Given the description of an element on the screen output the (x, y) to click on. 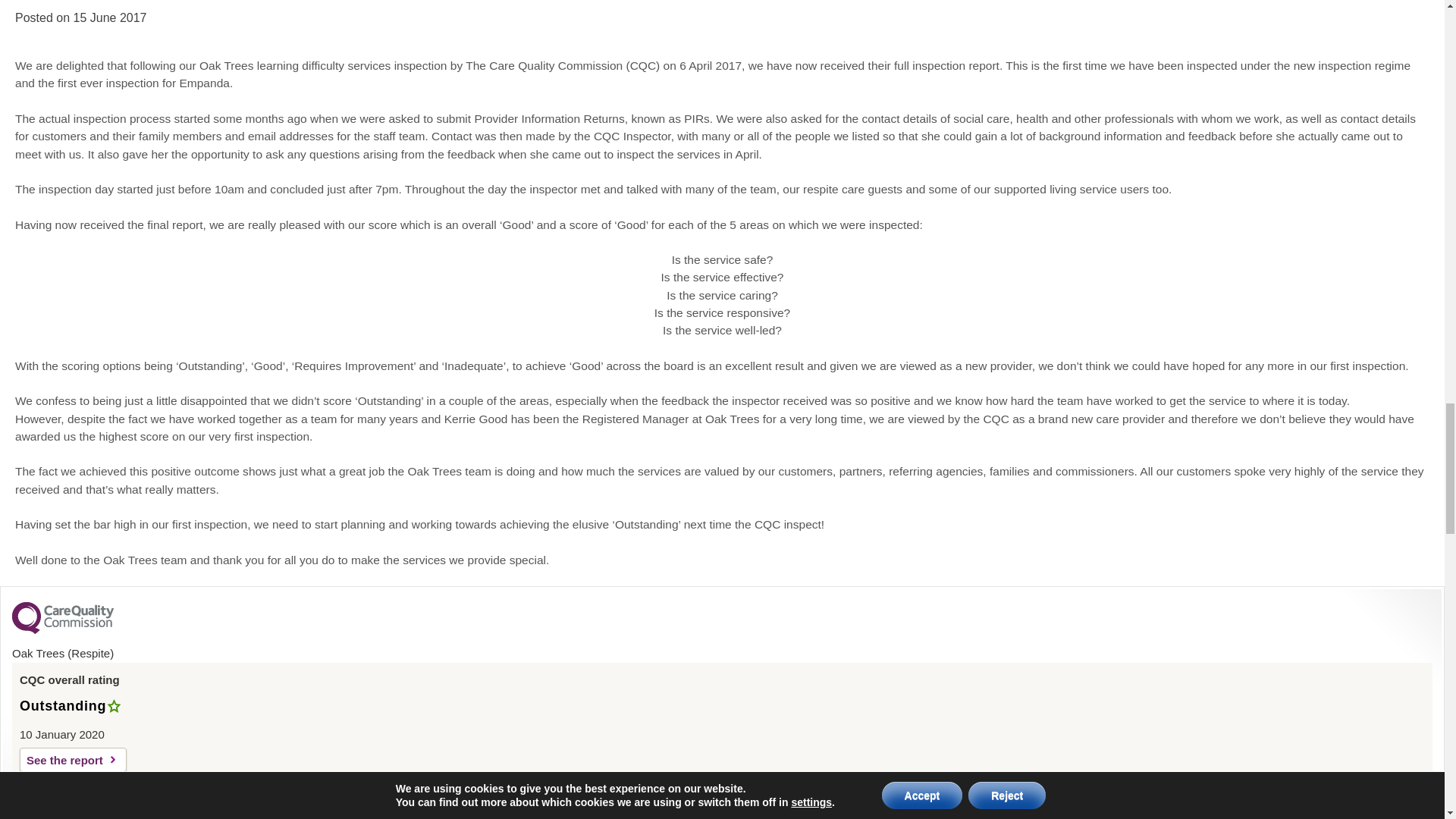
CQC Logo (62, 630)
See the report (73, 759)
